Given the description of an element on the screen output the (x, y) to click on. 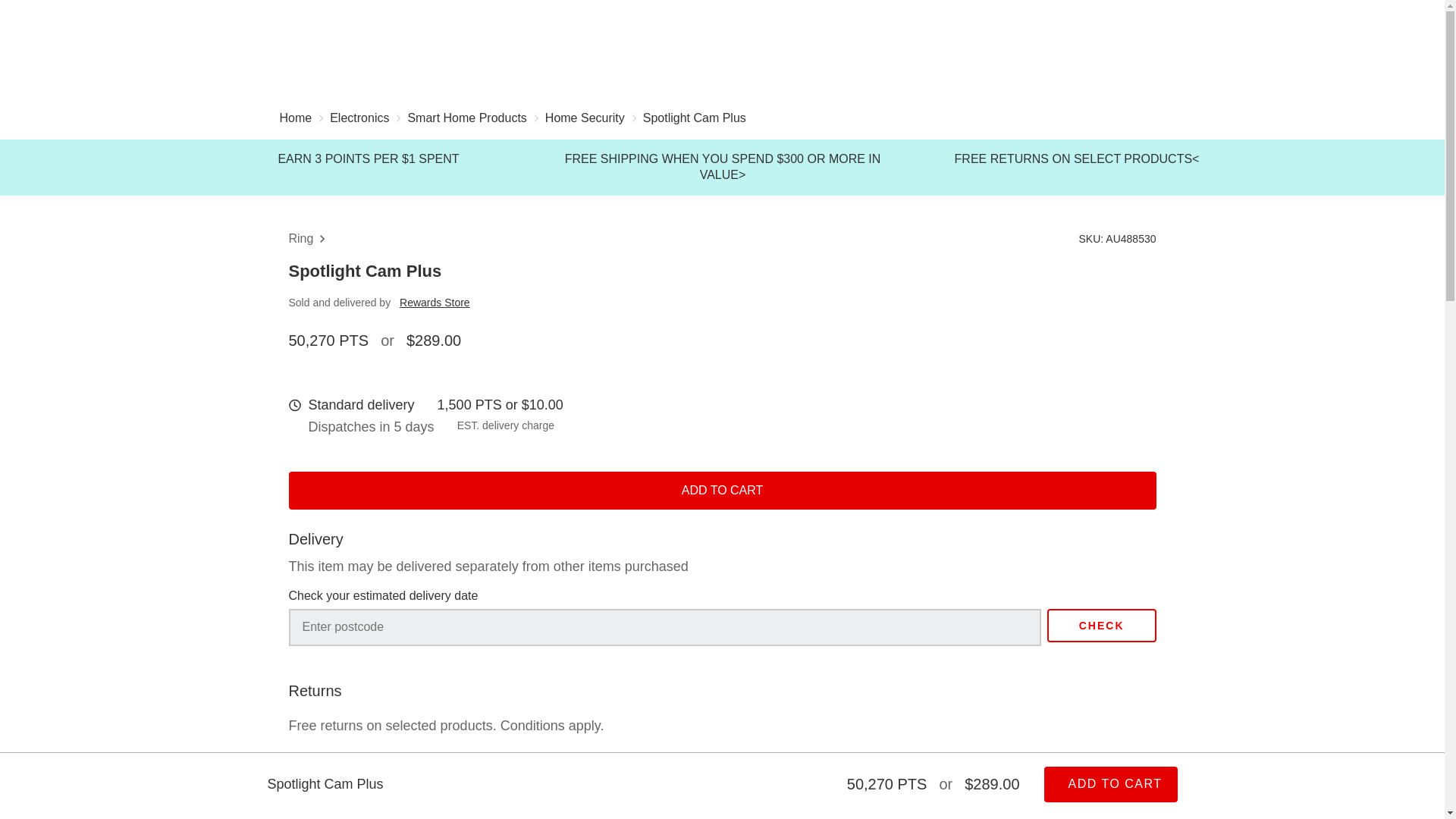
ADD TO CART (1109, 784)
CHECK (1101, 625)
Delivery (343, 793)
Rewards Store (434, 302)
Spotlight Cam Plus (694, 120)
Smart Home Products (466, 120)
Home (295, 120)
ADD TO CART (722, 490)
Ring (309, 239)
Electronics (359, 120)
Home Security (584, 120)
